Given the description of an element on the screen output the (x, y) to click on. 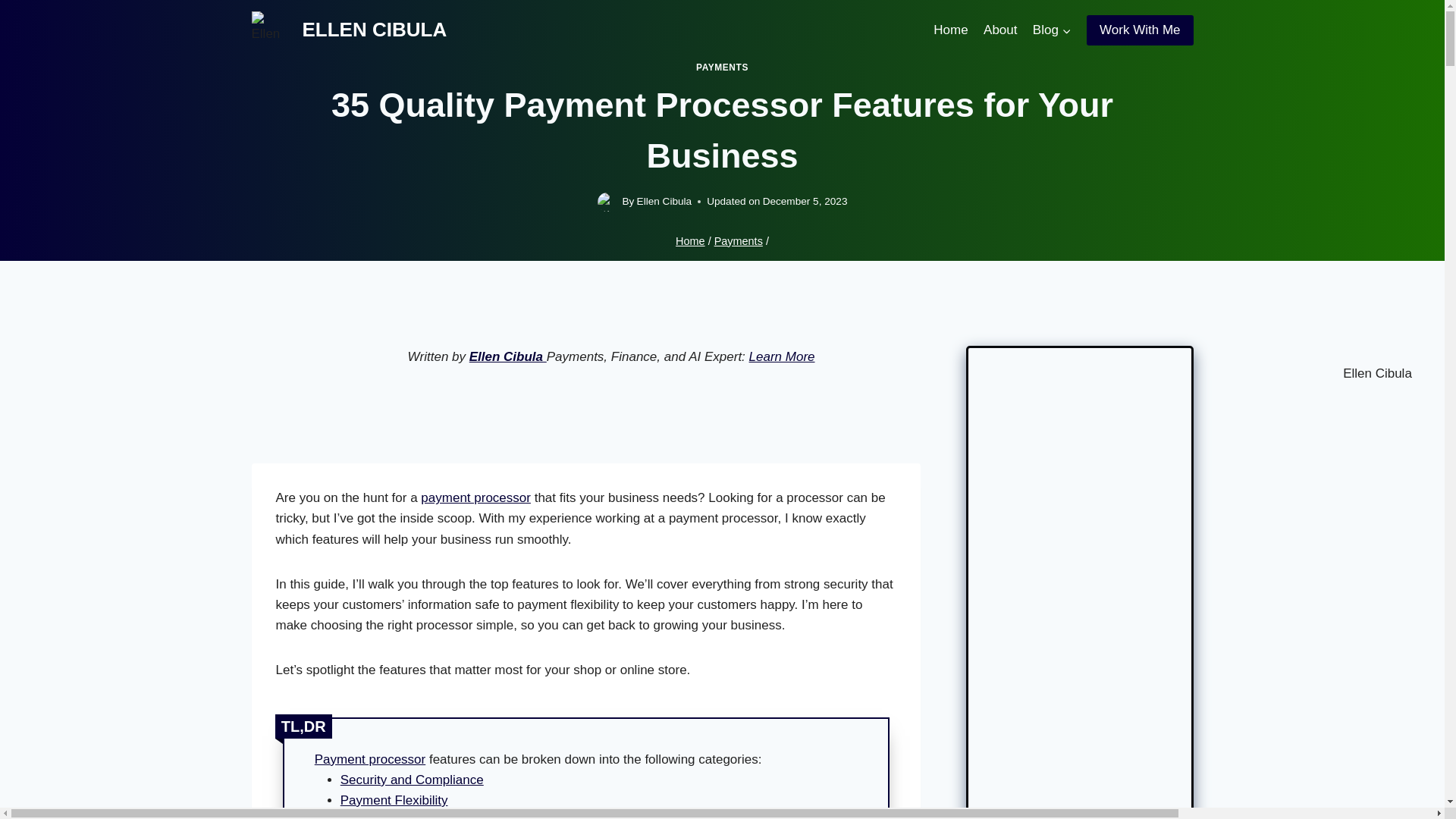
Learn More (782, 356)
About (1000, 30)
Home (950, 30)
Home (689, 241)
Ellen Cibula (665, 201)
Blog (1051, 30)
Security and Compliance (411, 780)
Work With Me (1139, 30)
Payment Flexibility (394, 800)
ELLEN CIBULA (348, 30)
Payments (738, 241)
Ellen Cibula (507, 356)
Payment processor (369, 759)
PAYMENTS (721, 67)
payment processor (475, 497)
